Given the description of an element on the screen output the (x, y) to click on. 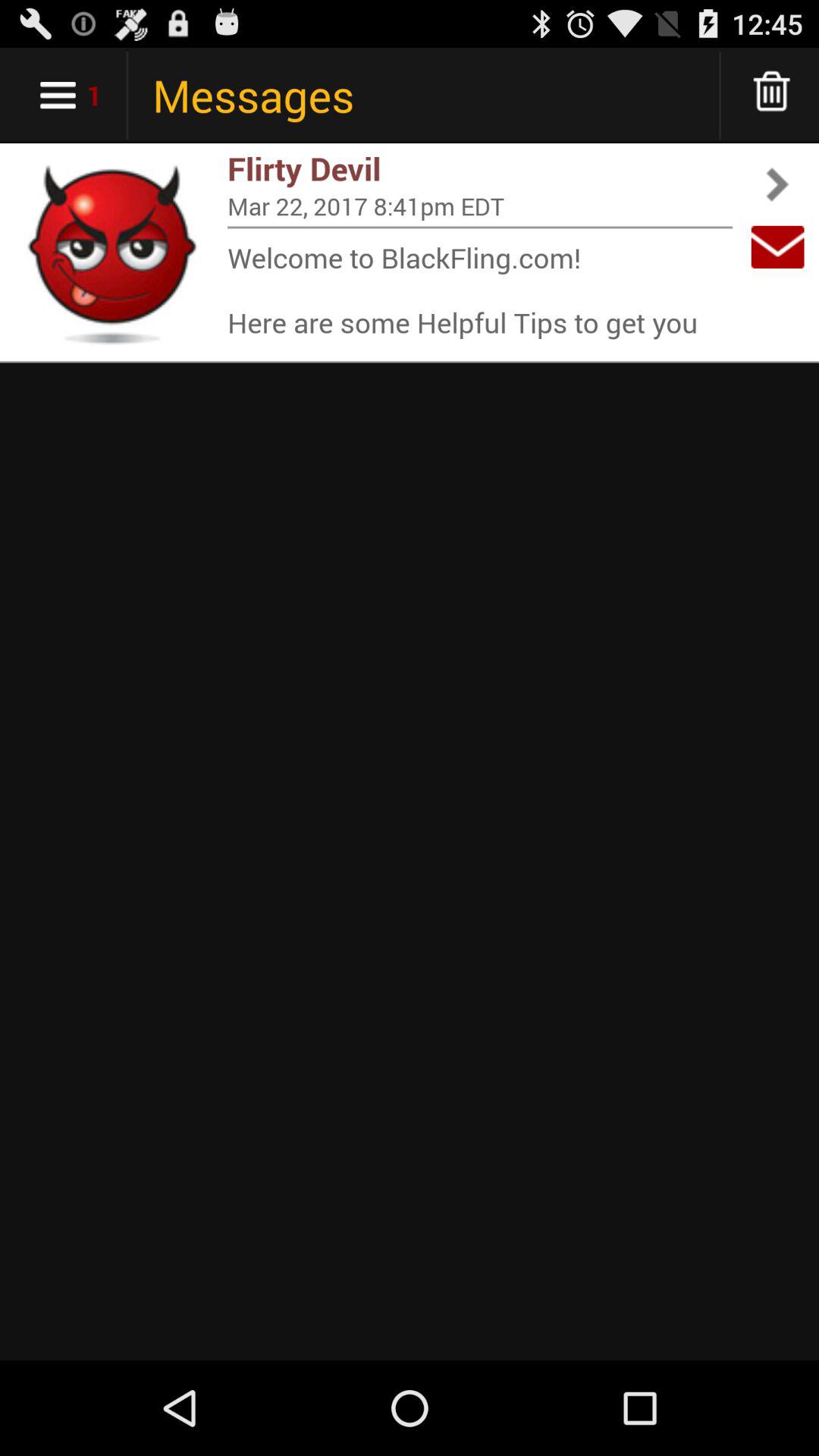
turn off the icon above mar 22 2017 (479, 168)
